Given the description of an element on the screen output the (x, y) to click on. 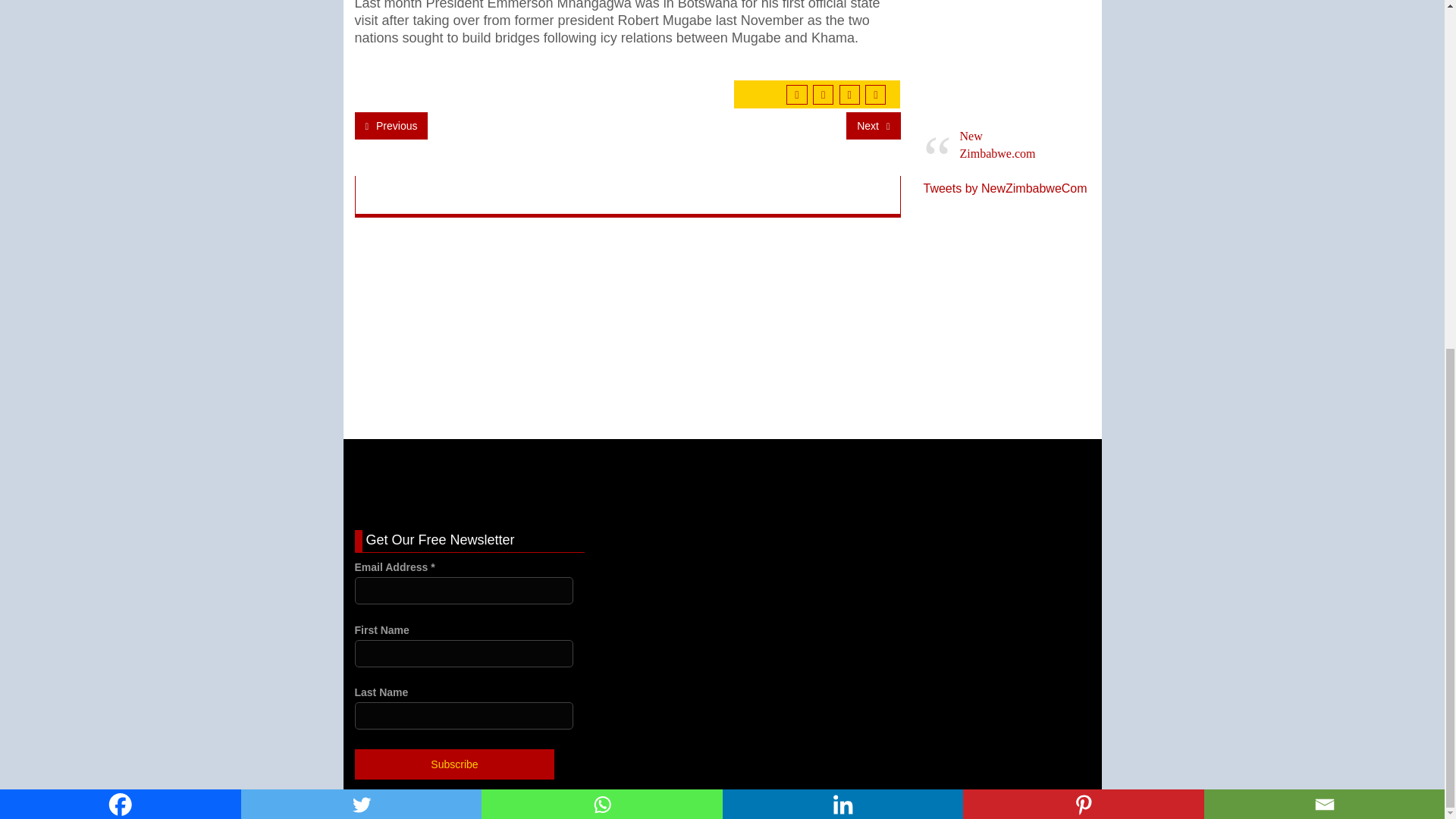
Twitter (361, 202)
Whatsapp (601, 202)
Linkedin (842, 202)
Subscribe (454, 764)
Facebook (120, 202)
Pinterest (1083, 202)
